Given the description of an element on the screen output the (x, y) to click on. 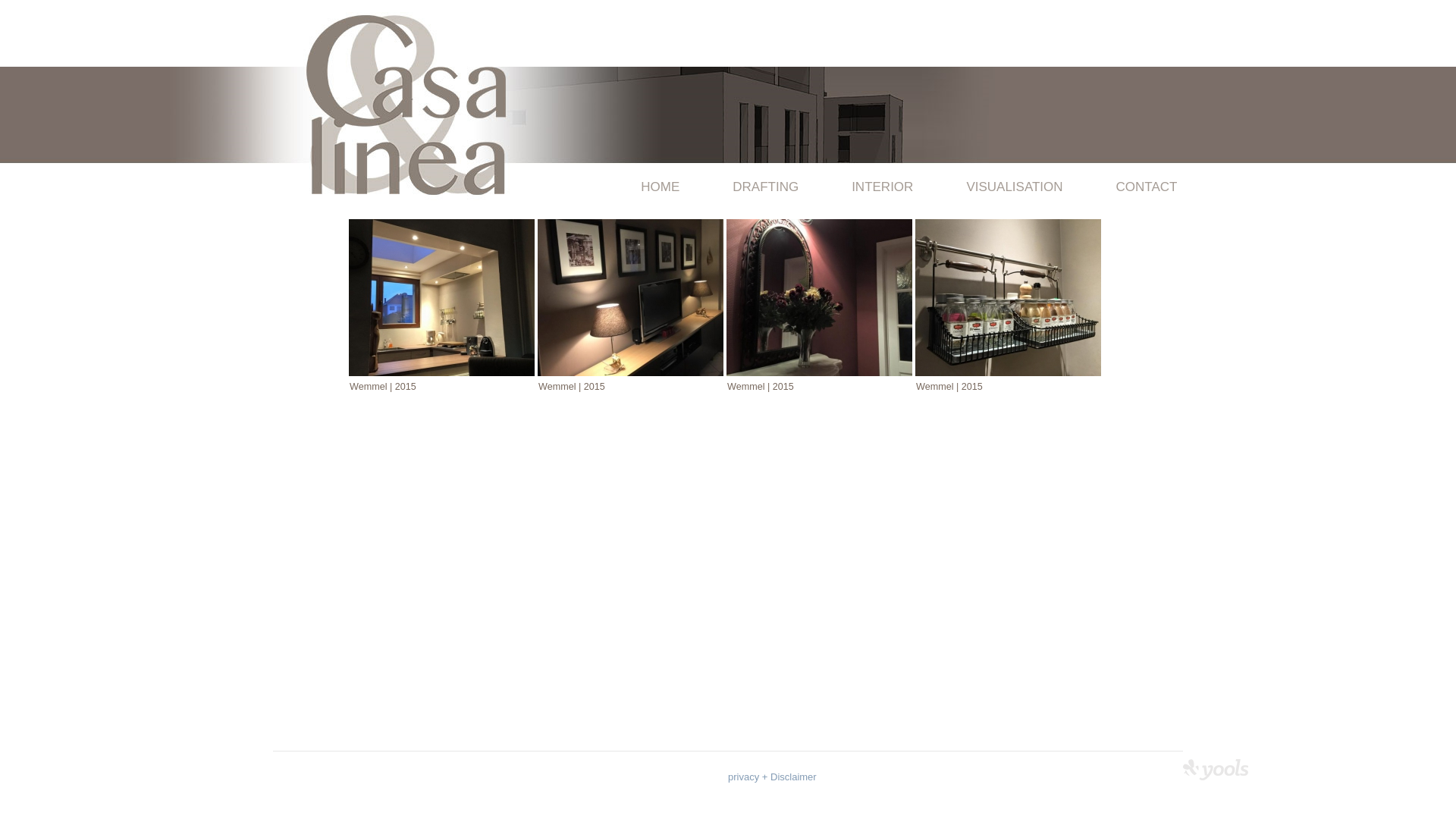
privacy + Disclaimer Element type: text (772, 776)
Wemmel | 2015 Element type: hover (1006, 297)
INTERIOR Element type: text (882, 187)
DRAFTING Element type: text (765, 187)
Interieur decoratie Element type: hover (1008, 297)
VISUALISATION Element type: text (1013, 187)
Yools Website Design Element type: hover (1215, 769)
Interieur decoratie Element type: hover (819, 297)
Wemmel | 2015 Element type: hover (439, 297)
CONTACT Element type: text (1133, 187)
Interieur decoratie Element type: hover (441, 297)
Wemmel | 2015 Element type: hover (628, 297)
Interieur decoratie Element type: hover (630, 297)
Wemmel | 2015 Element type: hover (817, 297)
HOME Element type: text (660, 187)
